Given the description of an element on the screen output the (x, y) to click on. 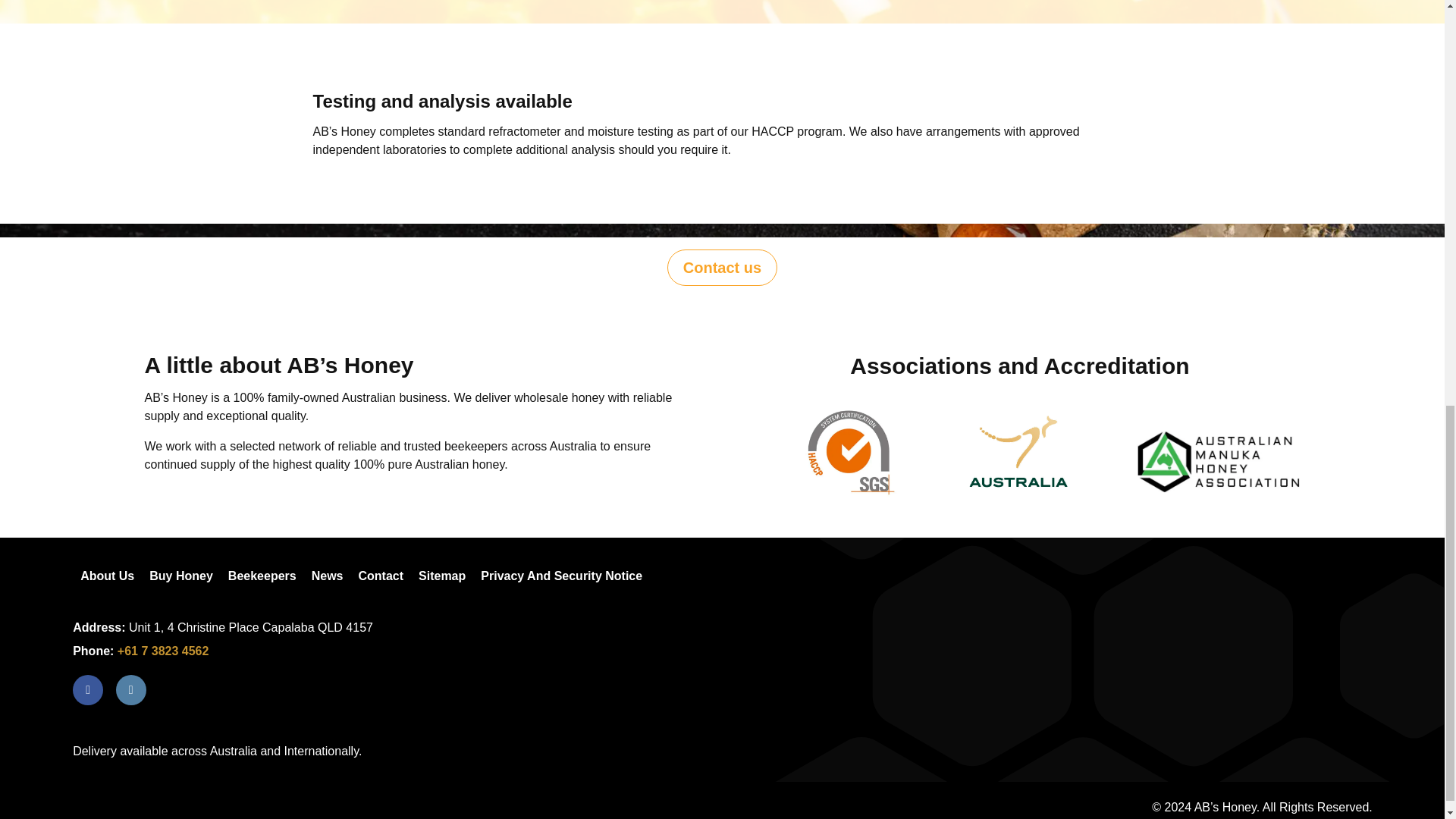
Contact us (721, 267)
Australian-Manuka-Honey-Association-scaled (1218, 461)
Australia (1019, 451)
About Us (106, 576)
Buy Honey (181, 576)
Beekeepers (262, 576)
